Given the description of an element on the screen output the (x, y) to click on. 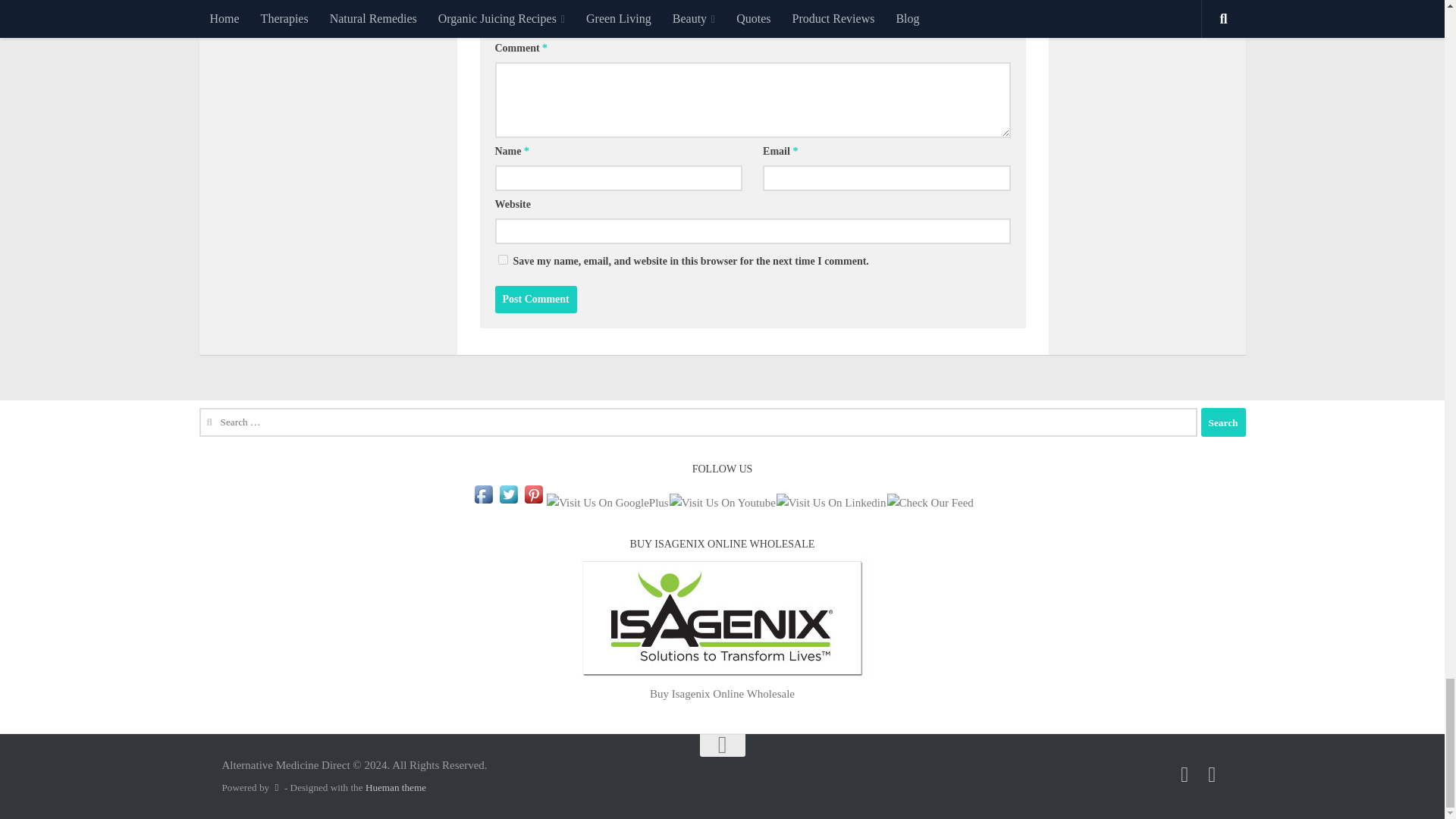
Search (1223, 421)
Post Comment (535, 298)
Visit Us On Facebook (483, 502)
Visit Us On Pinterest (533, 502)
Visit Us On GooglePlus (607, 502)
Visit Us On Twitter (508, 502)
Search (1223, 421)
yes (501, 259)
Visit Us On Youtube (722, 502)
